Given the description of an element on the screen output the (x, y) to click on. 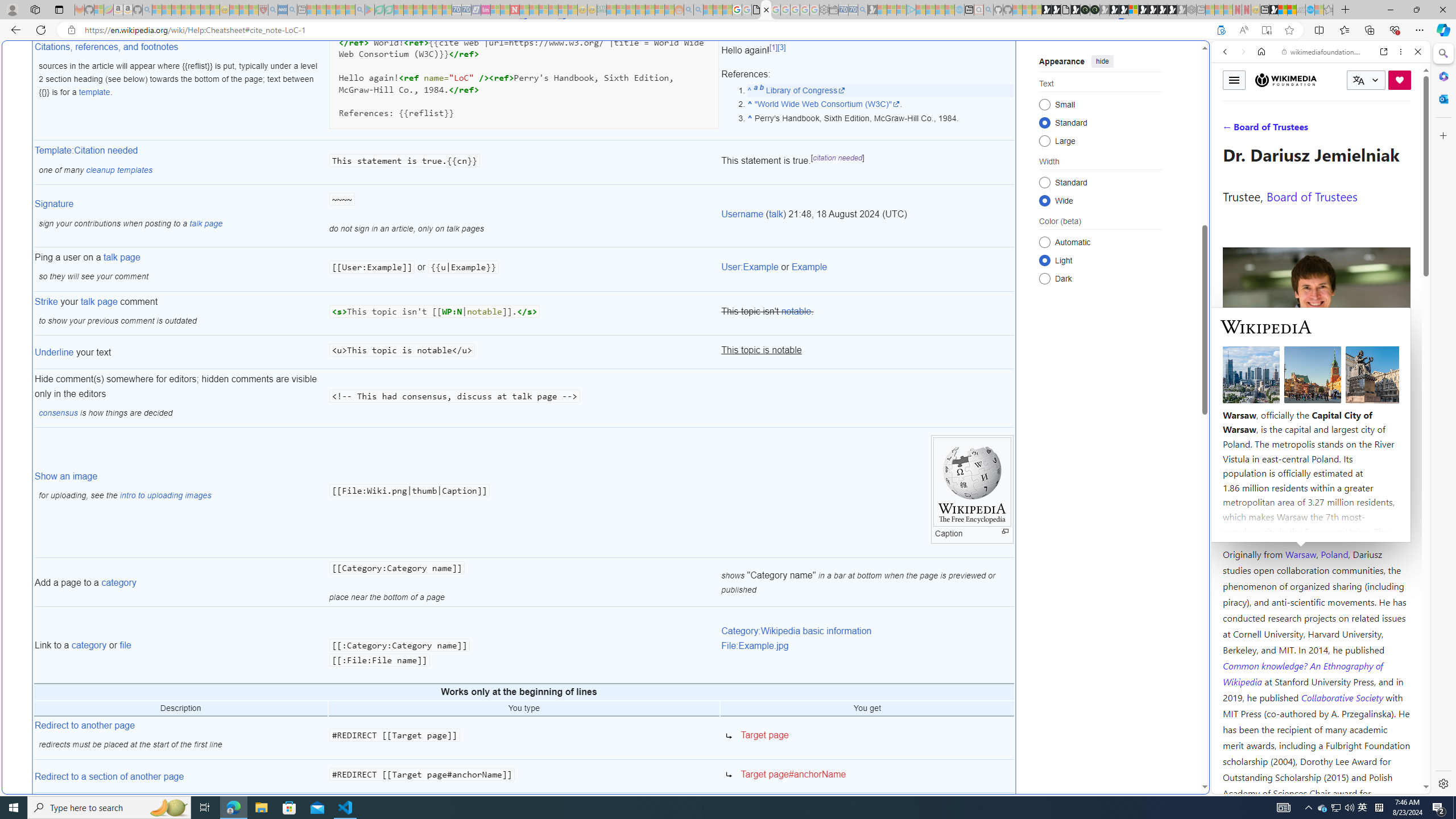
b (761, 90)
file (125, 645)
 Target page (866, 737)
Toggle menu (1233, 80)
Jump back up (748, 90)
This topic is notable (866, 352)
